Given the description of an element on the screen output the (x, y) to click on. 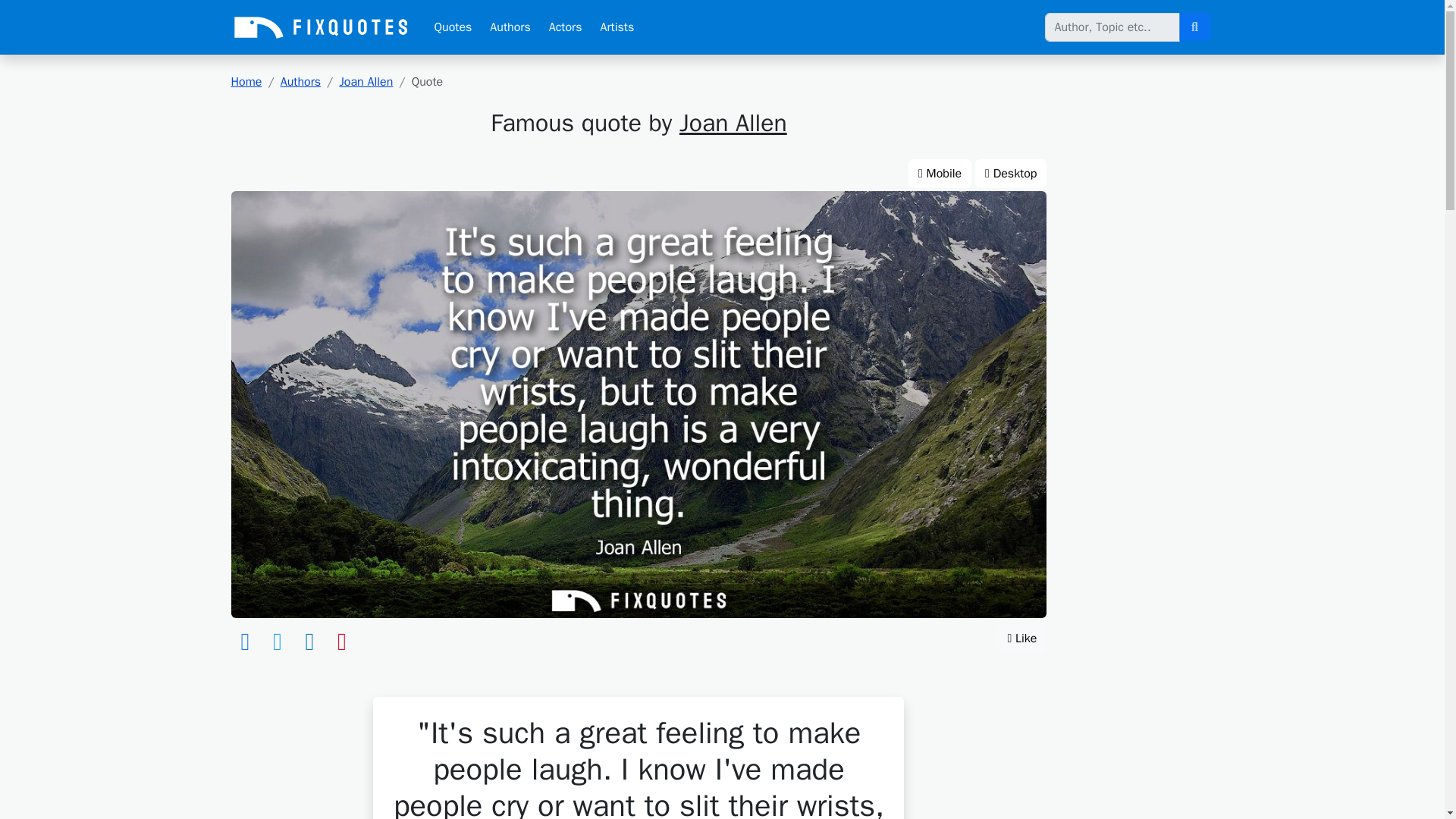
Home (246, 81)
View Mobile version (939, 173)
Mobile (939, 173)
Vote on the best quotes (1021, 638)
Actors (565, 27)
Artists (617, 27)
Authors (509, 27)
Click to search (1193, 26)
Quotes (452, 27)
